Given the description of an element on the screen output the (x, y) to click on. 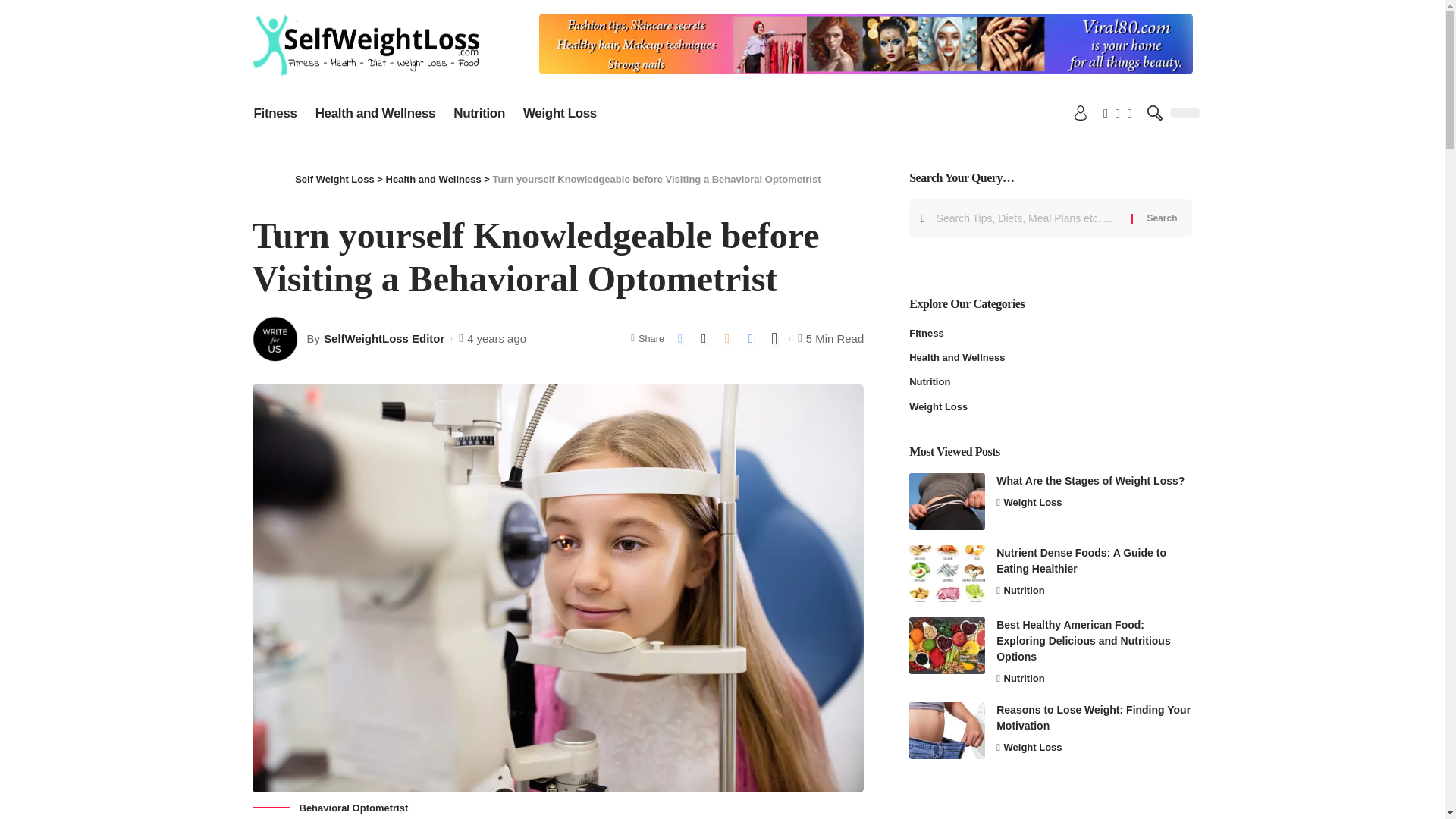
Search (1161, 218)
Nutrient Dense Foods: A Guide to Eating Healthier (946, 573)
Go to Self Weight Loss. (334, 179)
Weight Loss (559, 112)
Health and Wellness (375, 112)
Self Weight Loss (334, 179)
Fitness (274, 112)
What Are the Stages of Weight Loss? (946, 501)
Go to the Health and Wellness Category archives. (433, 179)
Nutrition (478, 112)
Reasons to Lose Weight: Finding Your Motivation (946, 730)
